Given the description of an element on the screen output the (x, y) to click on. 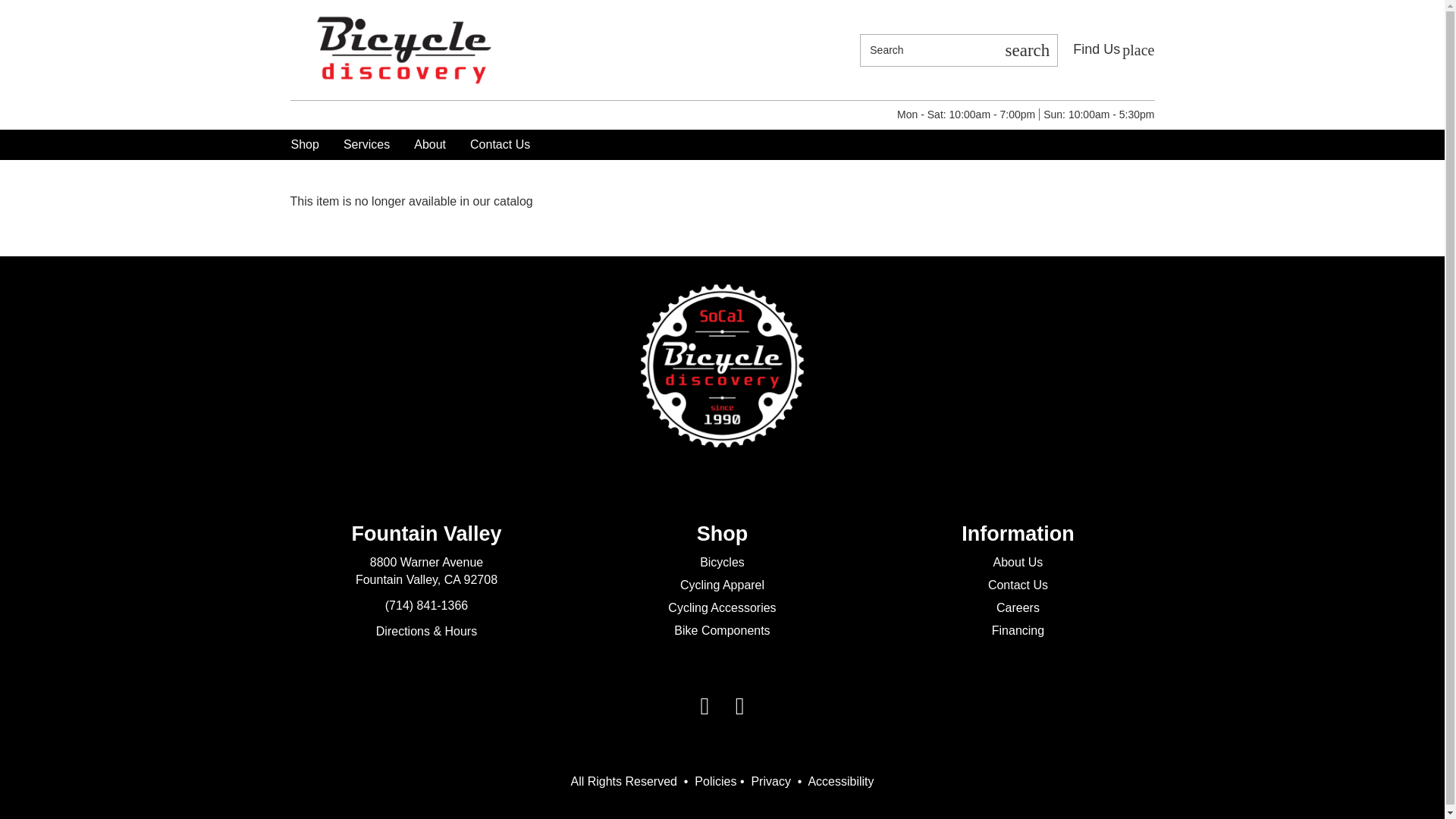
Search (927, 50)
Store (1113, 49)
Search (1026, 50)
Shop (304, 144)
Bicycle Discovery Home Page (402, 48)
